Given the description of an element on the screen output the (x, y) to click on. 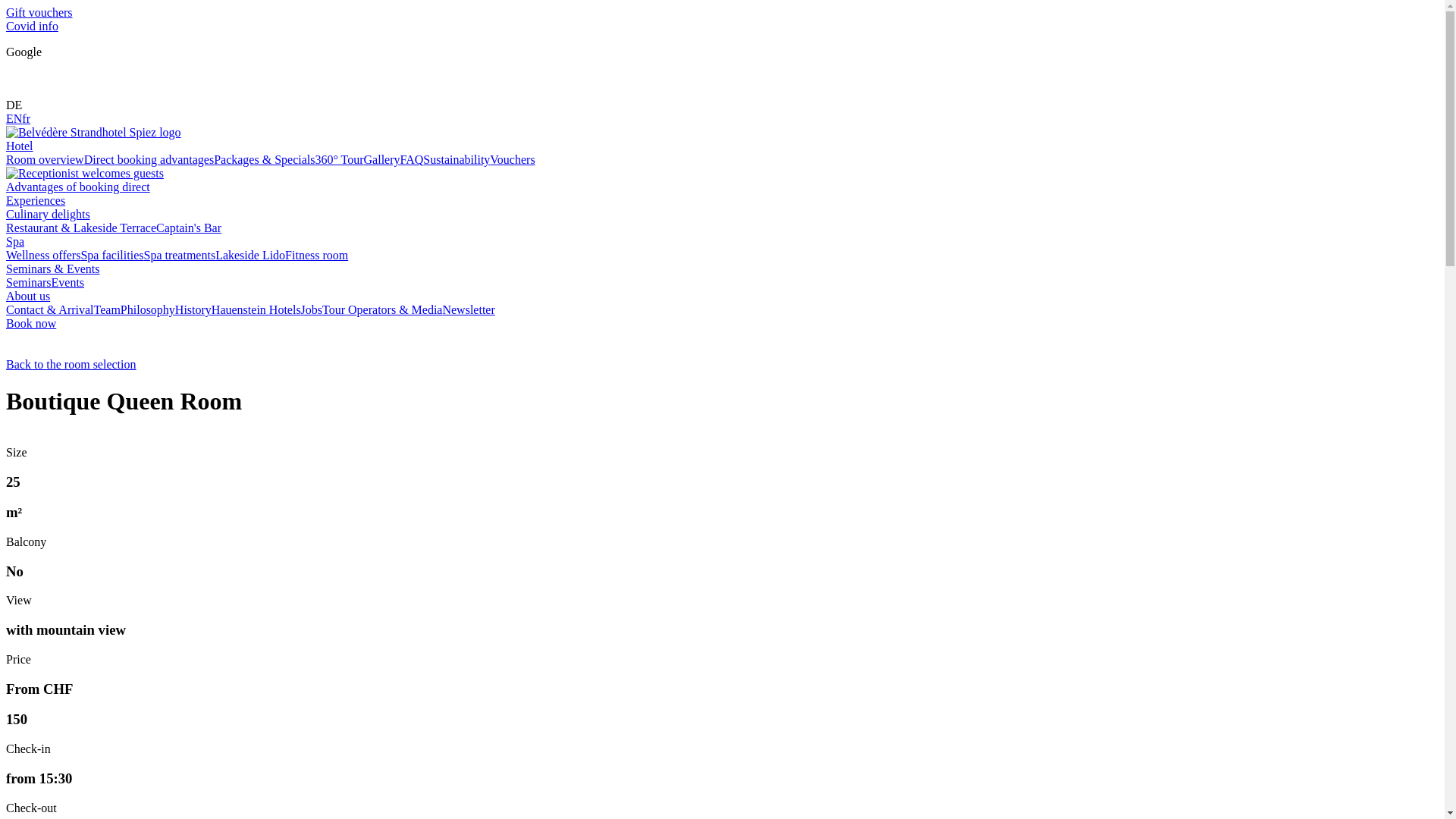
Gallery Element type: text (382, 159)
Team Element type: text (107, 309)
Seminars & Events Element type: text (722, 269)
Room overview Element type: text (45, 159)
Covid info Element type: text (32, 25)
Captain's Bar Element type: text (188, 227)
fr Element type: text (25, 118)
History Element type: text (193, 309)
Culinary delights Element type: text (722, 214)
Vouchers Element type: text (511, 159)
Seminars Element type: text (28, 282)
EN Element type: text (13, 118)
About us Element type: text (722, 296)
Fitness room Element type: text (316, 254)
Jobs Element type: text (311, 309)
Experiences Element type: text (35, 200)
Philosophy Element type: text (147, 309)
Advantages of booking direct Element type: text (722, 180)
Direct booking advantages Element type: text (149, 159)
Spa treatments Element type: text (179, 254)
Events Element type: text (67, 282)
Newsletter Element type: text (468, 309)
Gift vouchers Element type: text (39, 12)
Hauenstein Hotels Element type: text (256, 309)
Packages & Specials Element type: text (263, 159)
Spa Element type: text (722, 241)
Back to the room selection Element type: text (722, 357)
Wellness offers Element type: text (43, 254)
Restaurant & Lakeside Terrace Element type: text (81, 227)
Spa facilities Element type: text (111, 254)
Book now Element type: text (31, 322)
Hotel Element type: text (722, 146)
Sustainability Element type: text (456, 159)
Contact & Arrival Element type: text (50, 309)
Tour Operators & Media Element type: text (382, 309)
Lakeside Lido Element type: text (250, 254)
FAQ Element type: text (411, 159)
